Given the description of an element on the screen output the (x, y) to click on. 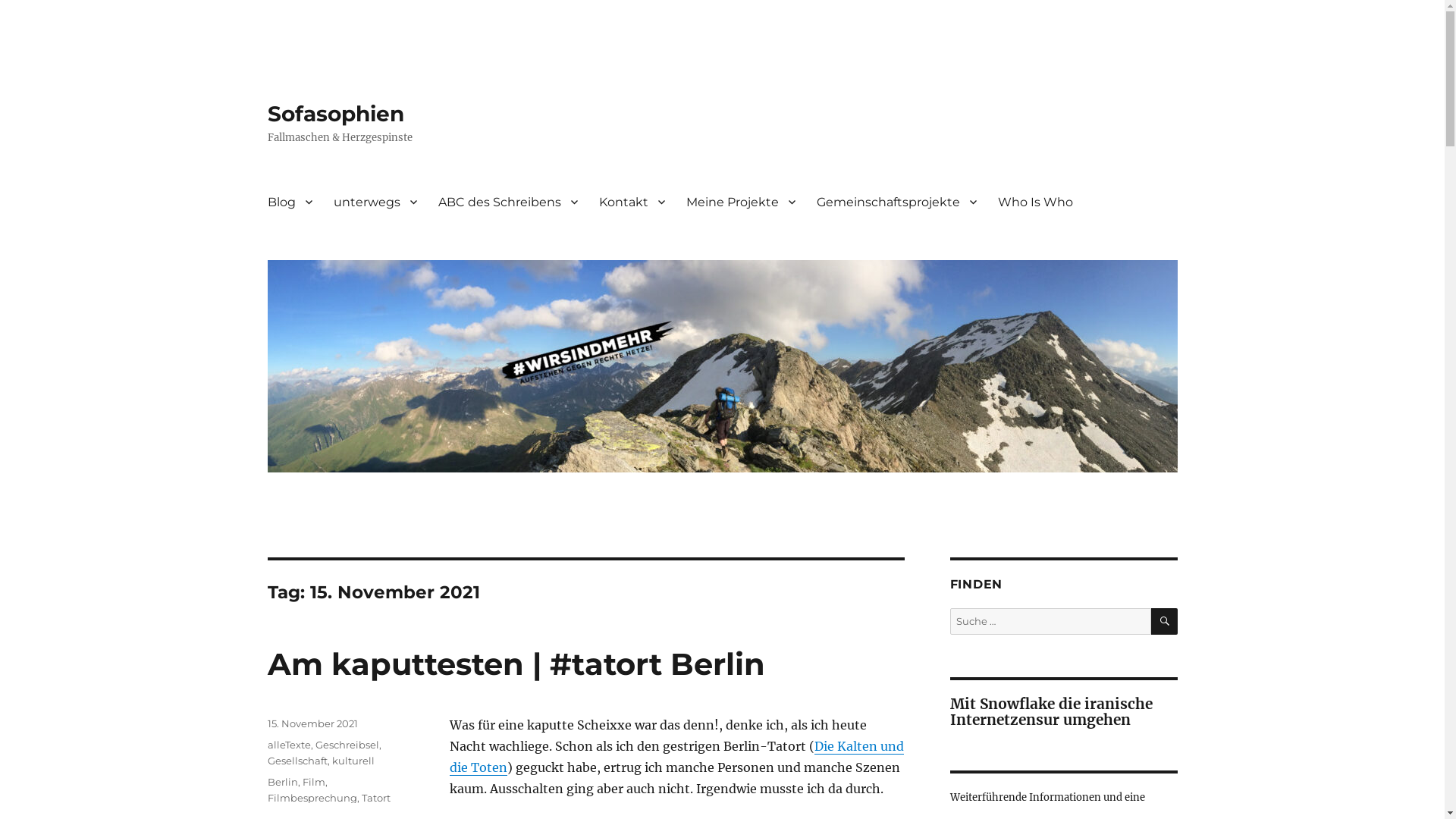
Tatort Element type: text (374, 797)
Filmbesprechung Element type: text (311, 797)
unterwegs Element type: text (375, 201)
kulturell Element type: text (353, 760)
Am kaputtesten | #tatort Berlin Element type: text (515, 663)
Berlin Element type: text (281, 781)
Geschreibsel Element type: text (347, 744)
Blog Element type: text (289, 201)
Film Element type: text (312, 781)
ABC des Schreibens Element type: text (507, 201)
Gemeinschaftsprojekte Element type: text (895, 201)
Die Kalten und die Toten Element type: text (675, 756)
Who Is Who Element type: text (1035, 201)
Gesellschaft Element type: text (296, 760)
15. November 2021 Element type: text (311, 723)
Sofasophien Element type: text (334, 113)
SUCHEN Element type: text (1164, 621)
Kontakt Element type: text (631, 201)
Meine Projekte Element type: text (739, 201)
alleTexte Element type: text (288, 744)
